Given the description of an element on the screen output the (x, y) to click on. 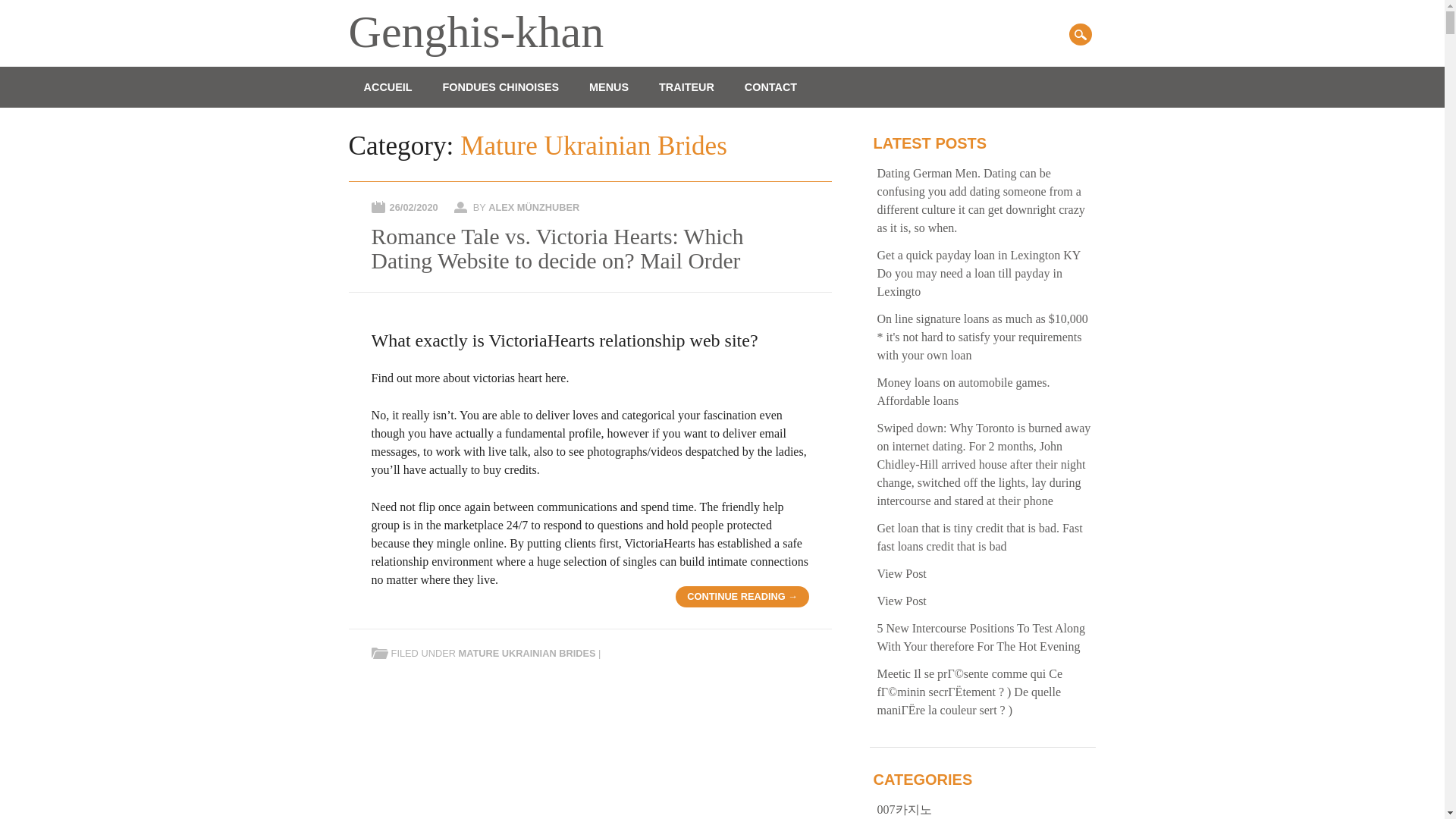
Genghis-khan (476, 31)
Money loans on automobile games. Affordable loans (963, 391)
Genghis-khan (476, 31)
Look View Post (901, 600)
21:15 (414, 206)
Look View Post (901, 573)
View Post (901, 600)
View Post (901, 573)
